Given the description of an element on the screen output the (x, y) to click on. 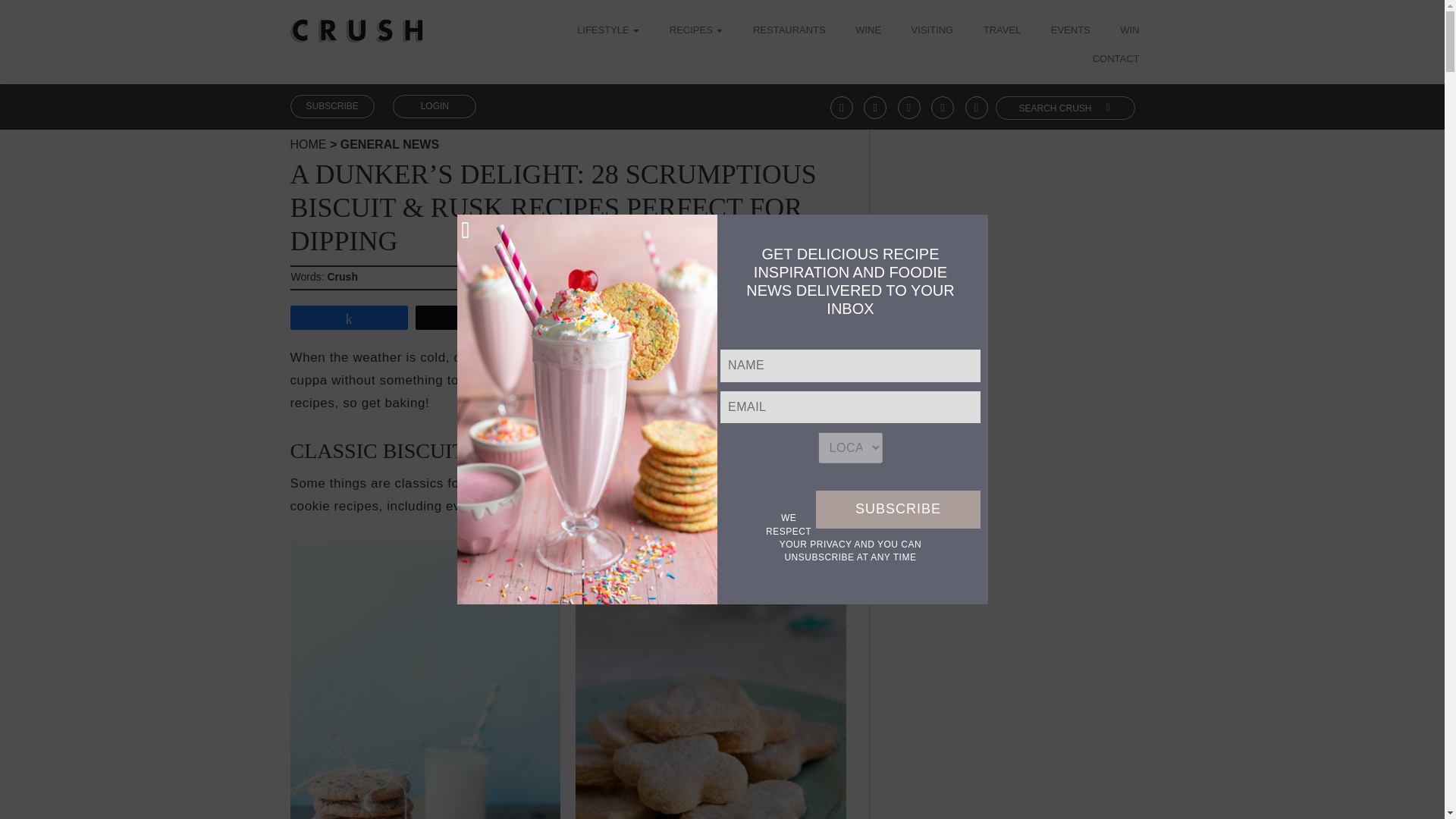
EVENTS (1070, 31)
Crush Magazine (307, 144)
WINE (868, 31)
WIN (1129, 31)
LIFESTYLE (613, 31)
RECIPES (696, 31)
RESTAURANTS (789, 31)
CONTACT (1116, 59)
TRAVEL (1002, 31)
Subscribe (897, 509)
VISITING (932, 31)
Crush Mag Online (355, 24)
